Given the description of an element on the screen output the (x, y) to click on. 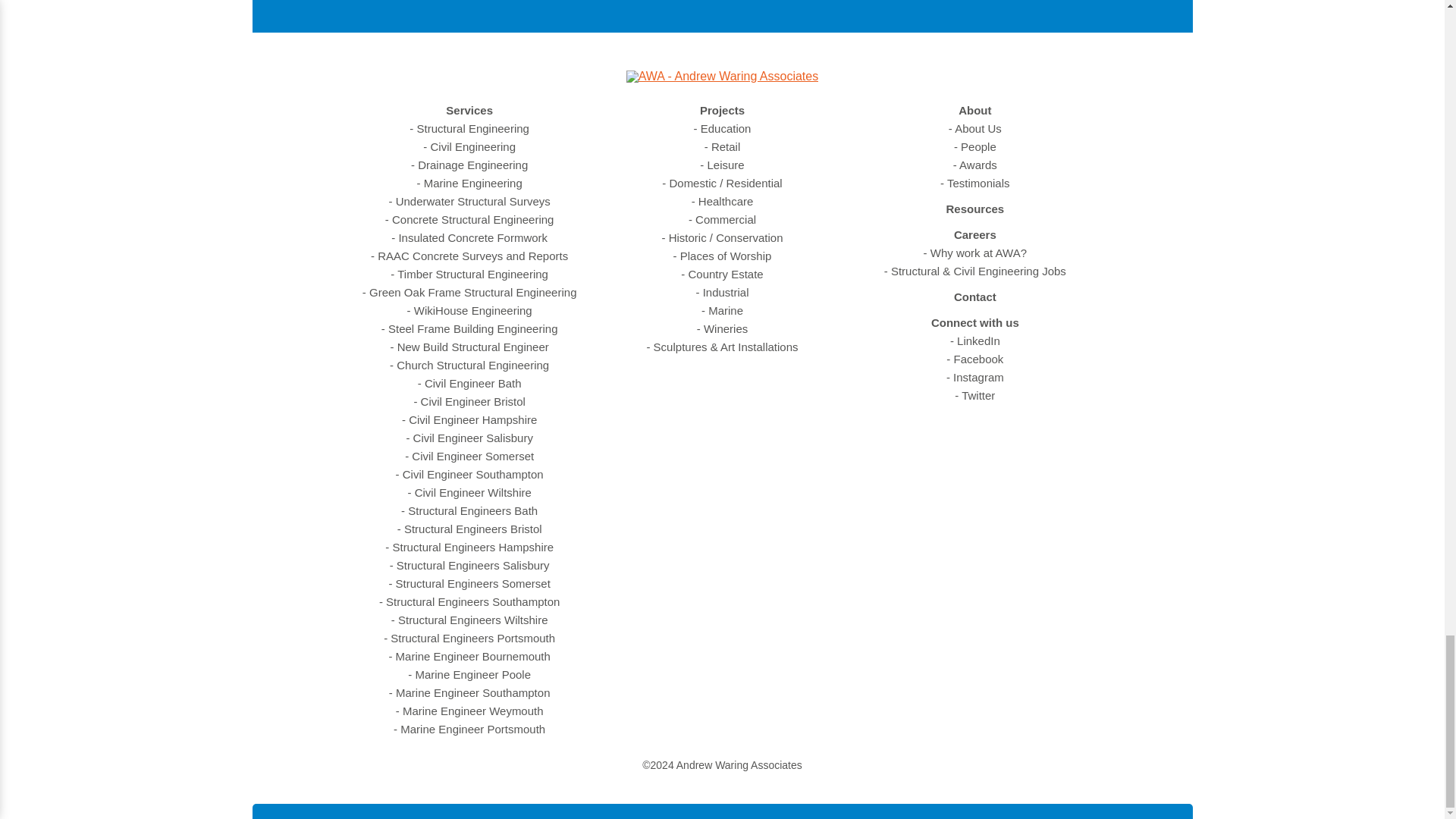
People (974, 147)
About Us (975, 129)
Contact (974, 297)
Testimonials (974, 183)
Resources (974, 209)
Current Vacancies (974, 271)
Why work at AWA? (974, 253)
Awards (975, 165)
Projects (722, 110)
